Given the description of an element on the screen output the (x, y) to click on. 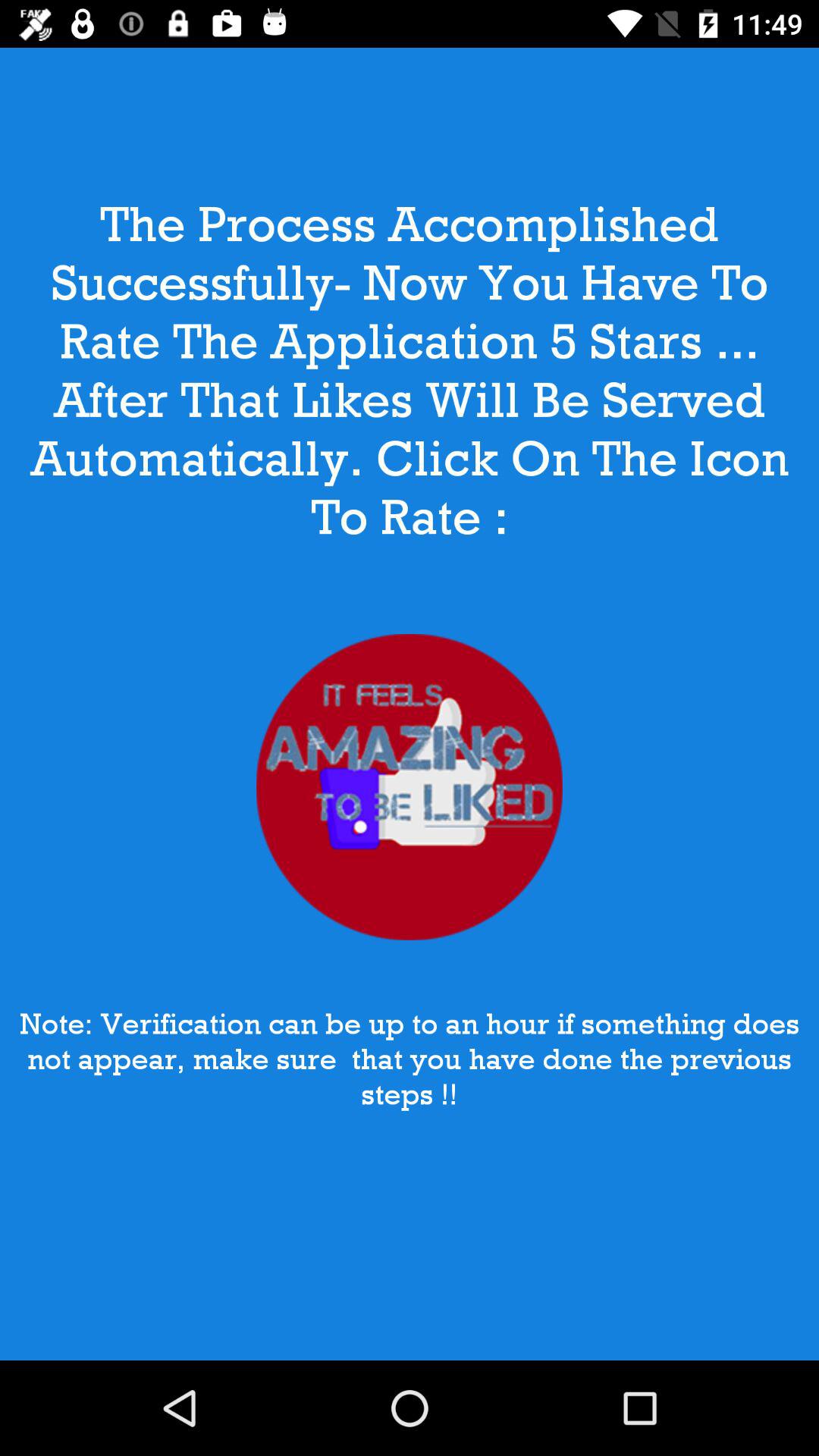
thumbs up (409, 787)
